Given the description of an element on the screen output the (x, y) to click on. 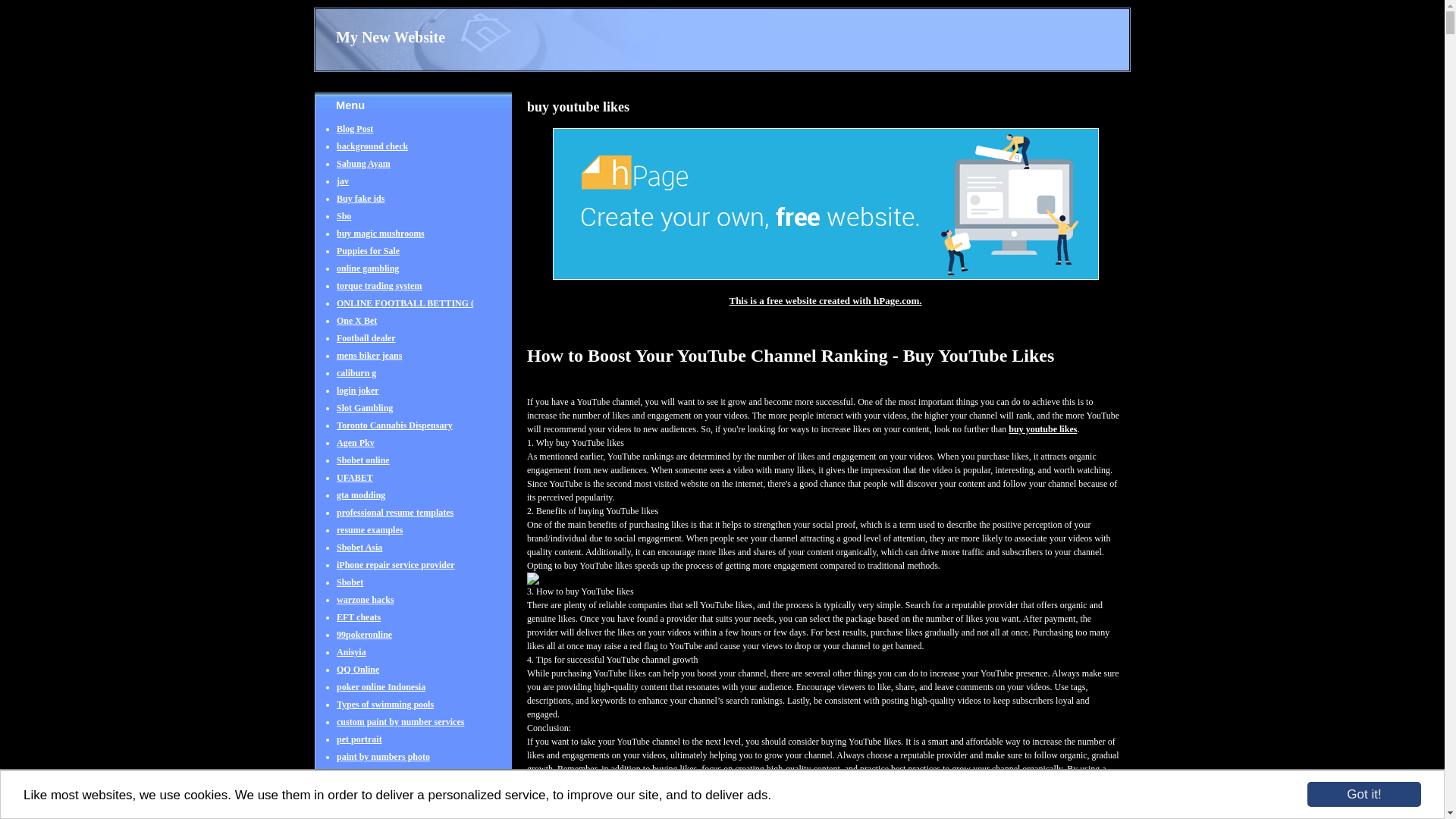
iPhone repair service provider (395, 572)
professional resume templates (394, 519)
One X Bet (356, 328)
buy magic mushrooms (380, 240)
ONLINE SLOTS (370, 781)
Slot Gambling (364, 415)
QQ Online (357, 677)
Sbobet Asia (358, 555)
99pokeronline (363, 642)
warzone hacks (365, 606)
Toronto Cannabis Dispensary (394, 432)
resume examples (369, 537)
poker online Indonesia (380, 694)
gta modding (360, 502)
EFT cheats (358, 624)
